Given the description of an element on the screen output the (x, y) to click on. 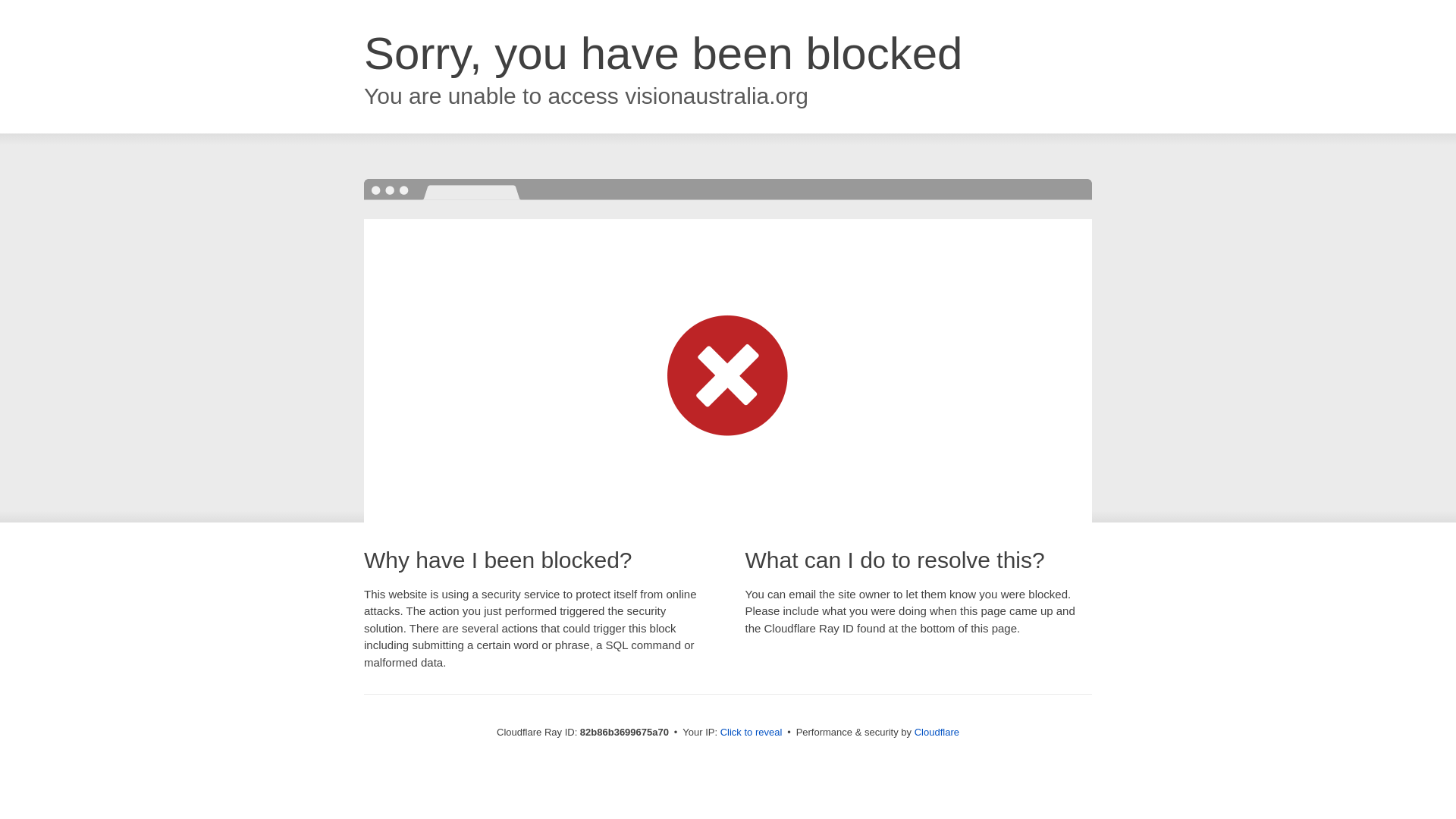
Cloudflare Element type: text (936, 731)
Click to reveal Element type: text (751, 732)
